Given the description of an element on the screen output the (x, y) to click on. 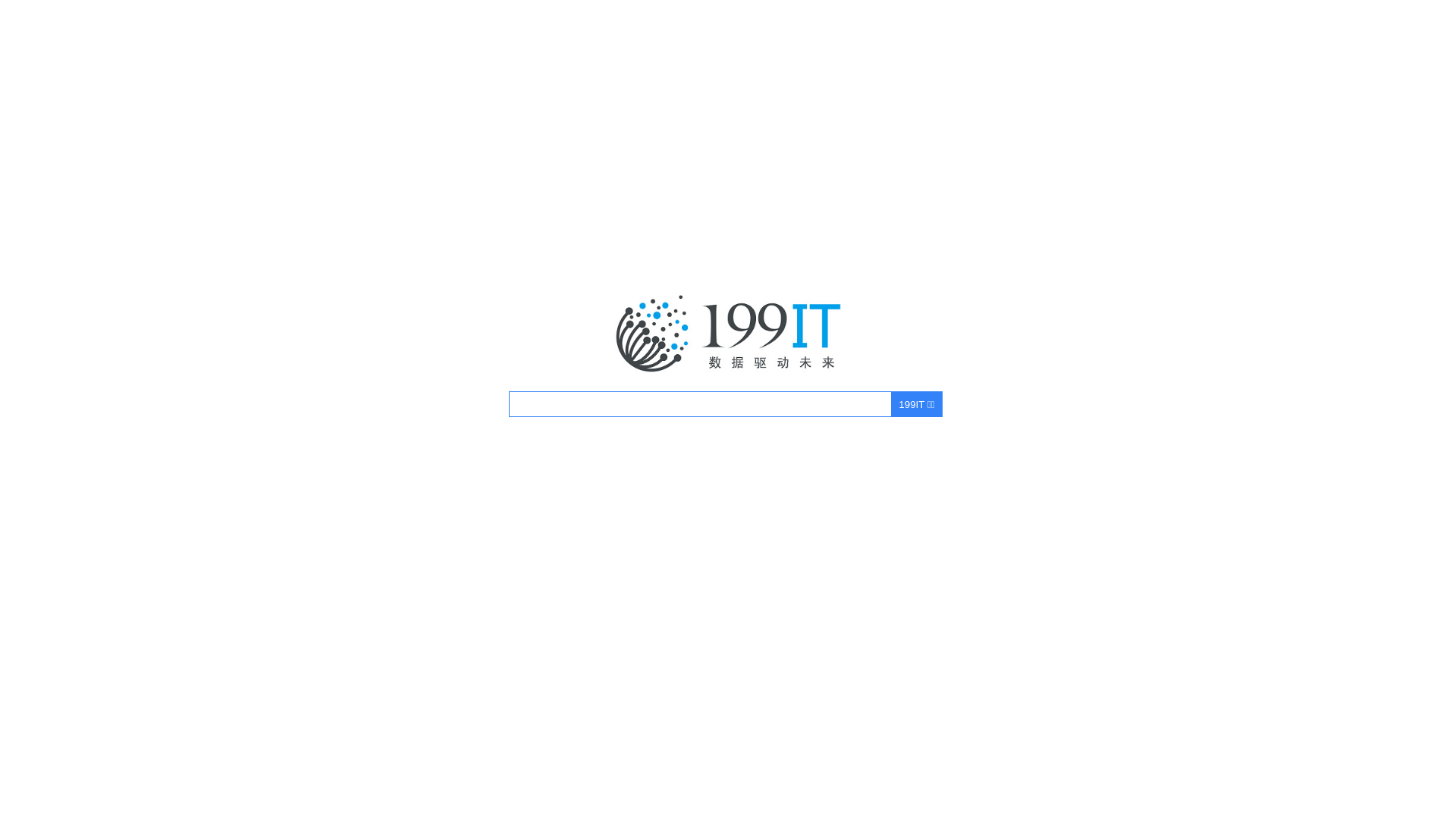
Advertisement Element type: hover (727, 466)
